Given the description of an element on the screen output the (x, y) to click on. 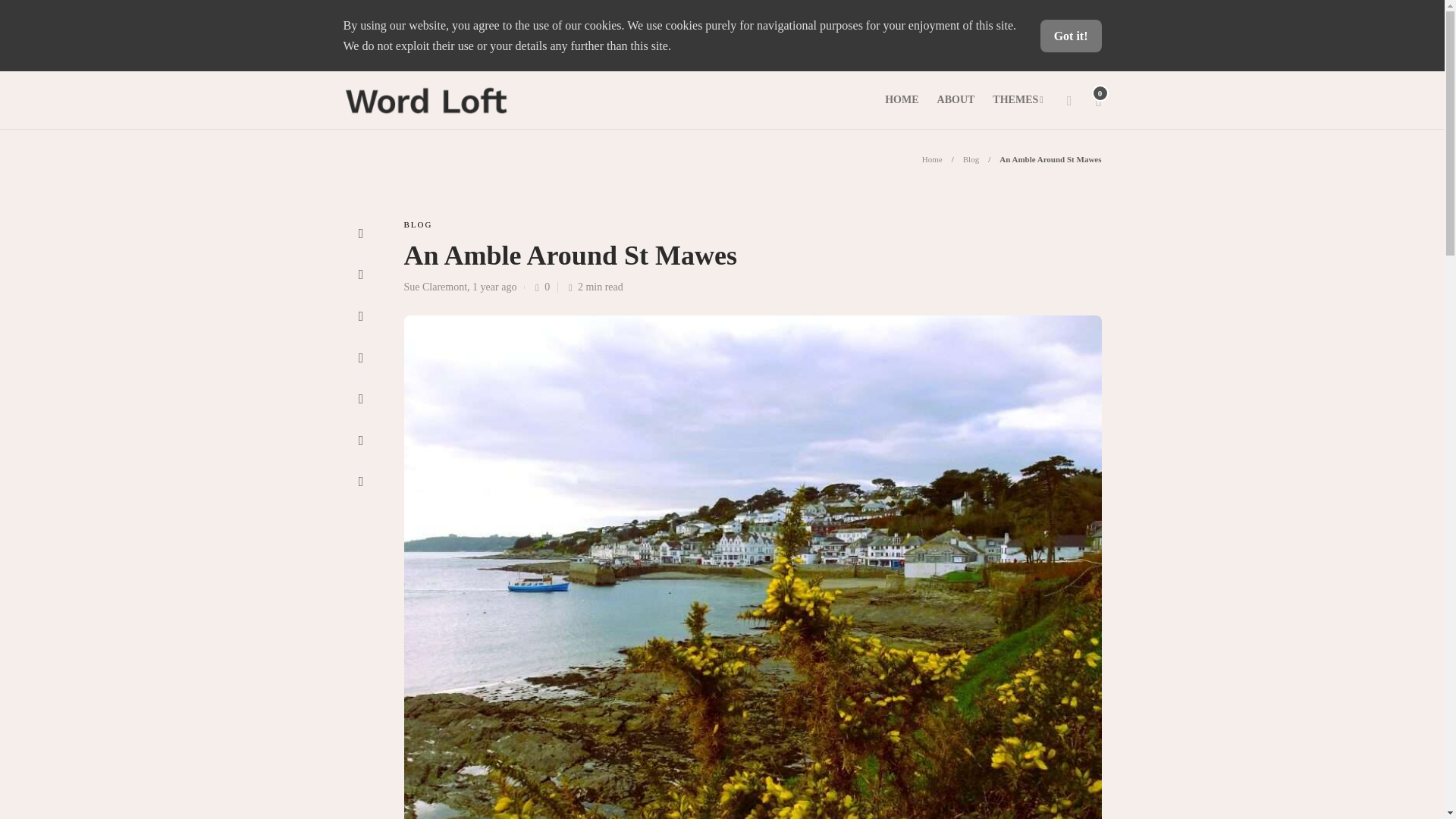
Got it! (1071, 35)
Home (931, 158)
An Amble Around St Mawes (1049, 158)
